Given the description of an element on the screen output the (x, y) to click on. 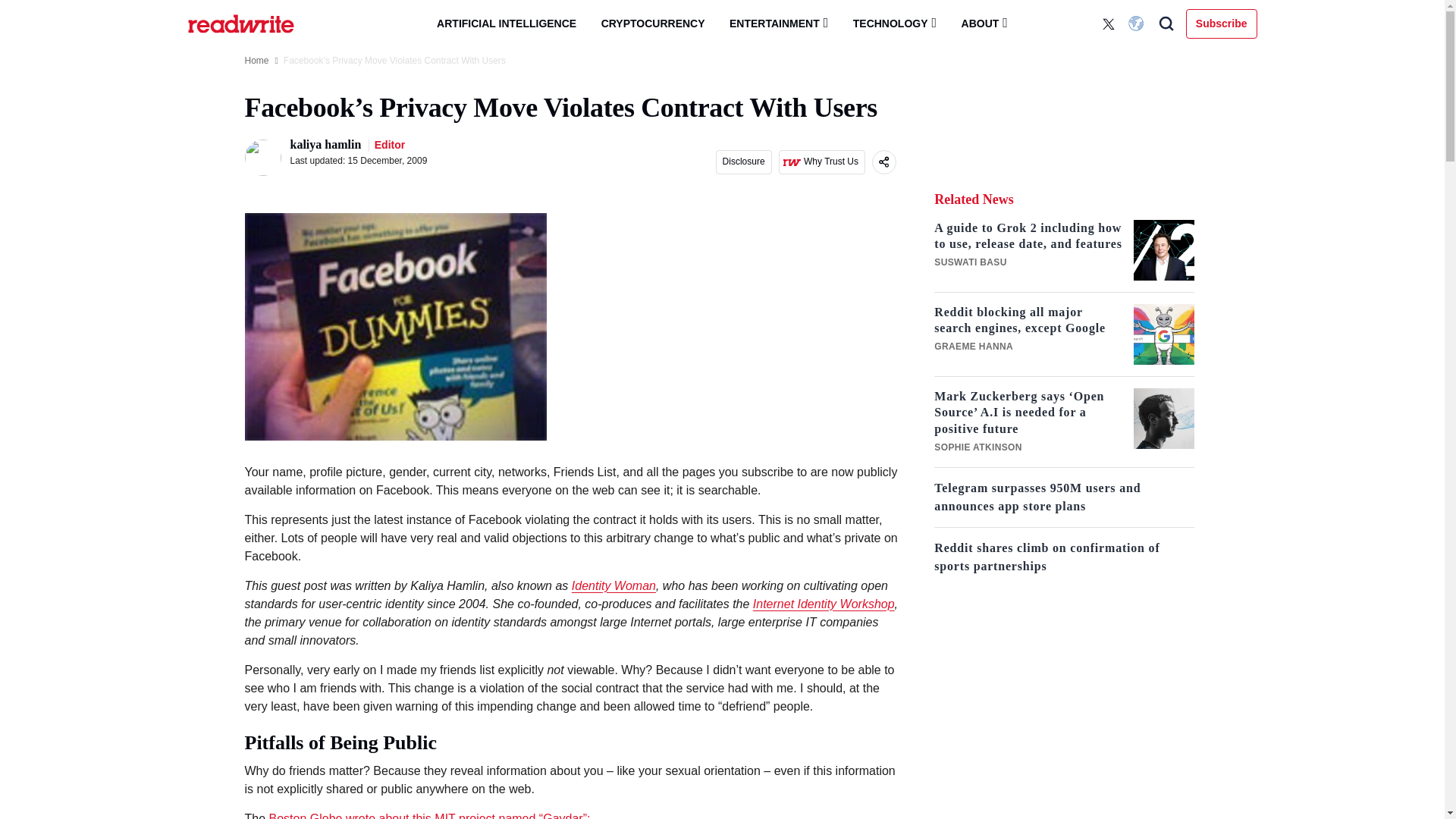
English (1137, 23)
Subscribe (1221, 23)
ABOUT (983, 23)
CRYPTOCURRENCY (653, 23)
ENTERTAINMENT (778, 23)
ARTIFICIAL INTELLIGENCE (506, 23)
Home (255, 60)
TECHNOLOGY (895, 23)
